Given the description of an element on the screen output the (x, y) to click on. 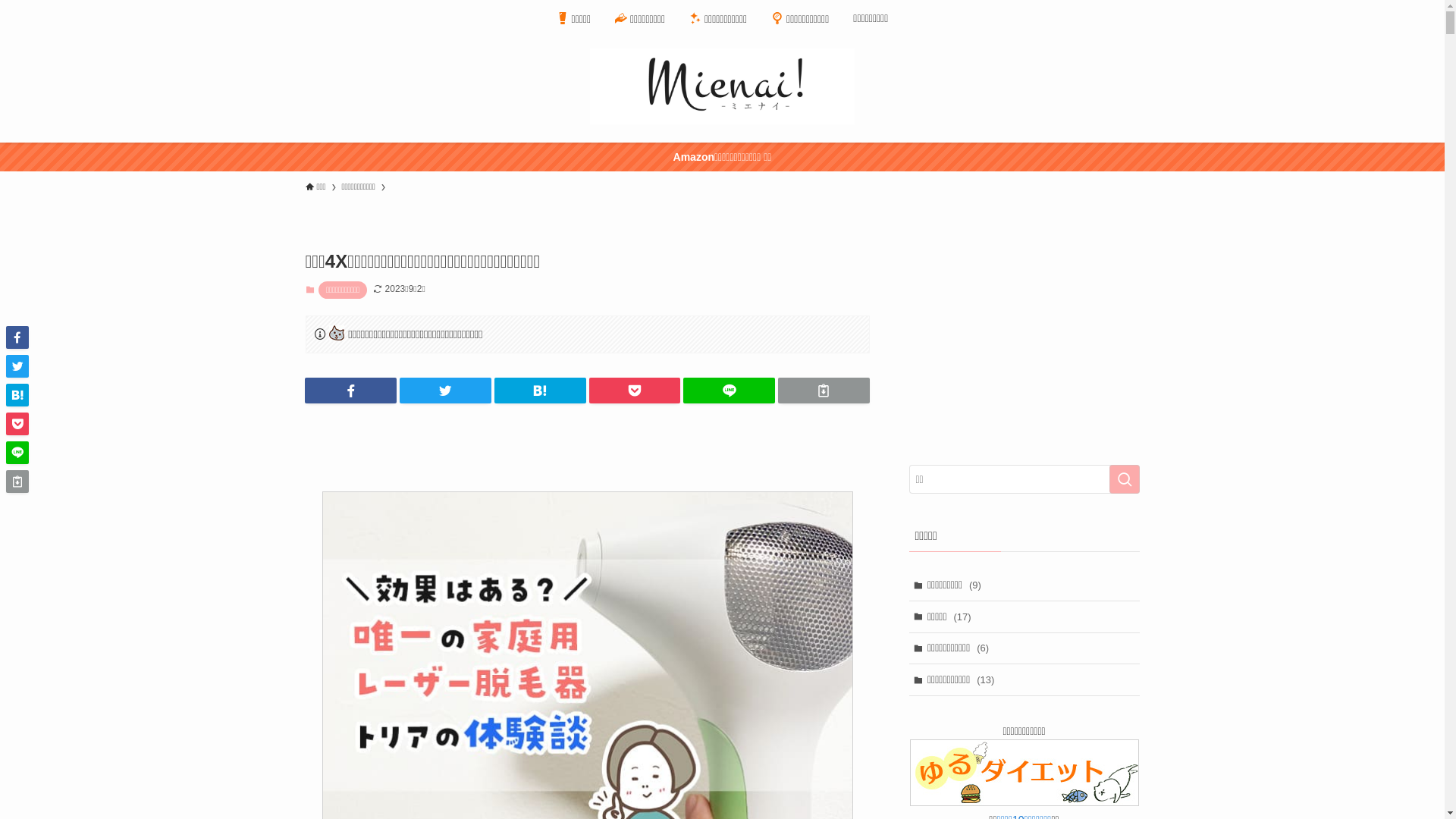
search Element type: text (921, 421)
Advertisement Element type: hover (1023, 343)
Advertisement Element type: hover (580, 443)
search Element type: text (1123, 478)
